Given the description of an element on the screen output the (x, y) to click on. 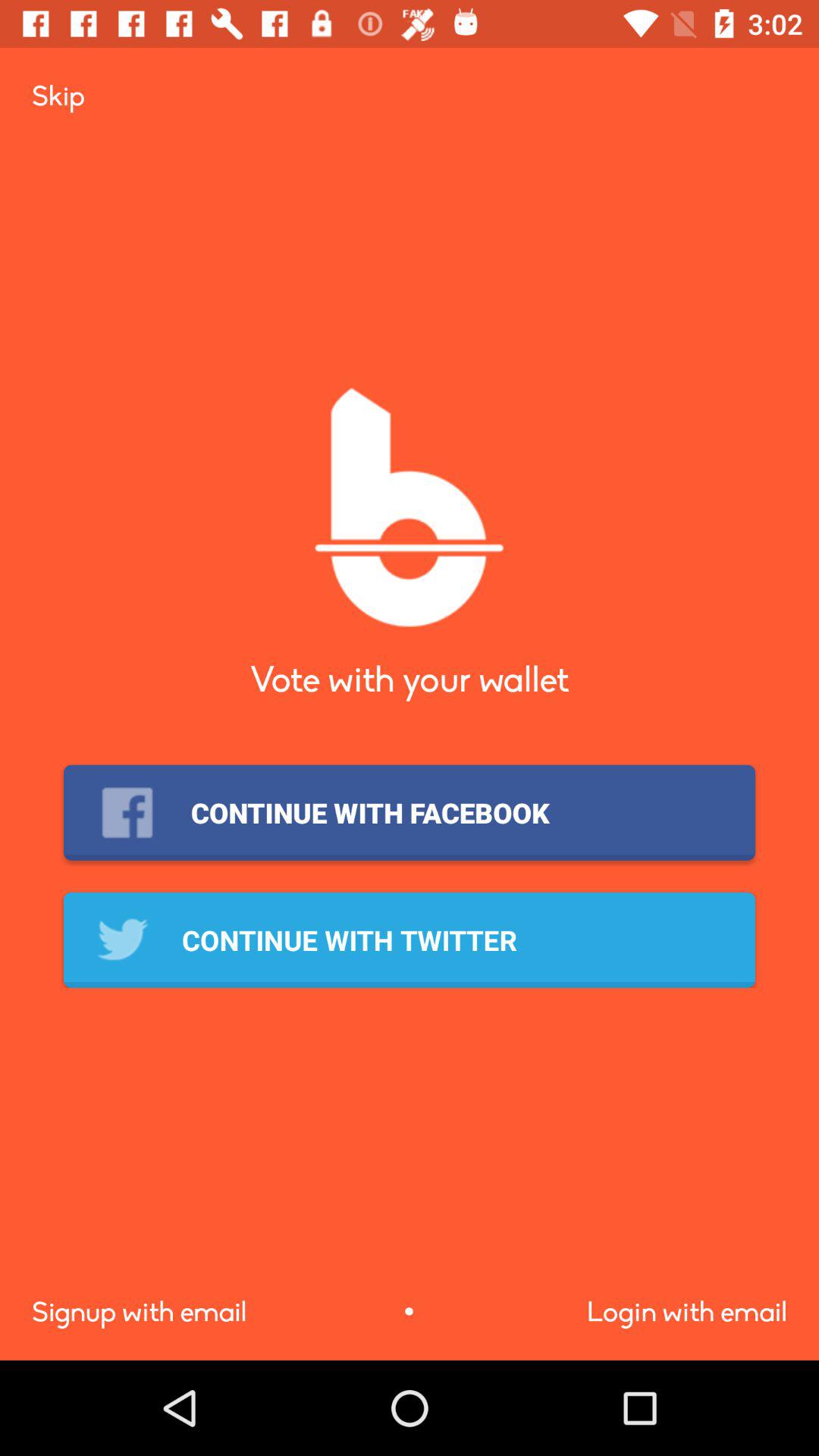
click the skip item (58, 95)
